Given the description of an element on the screen output the (x, y) to click on. 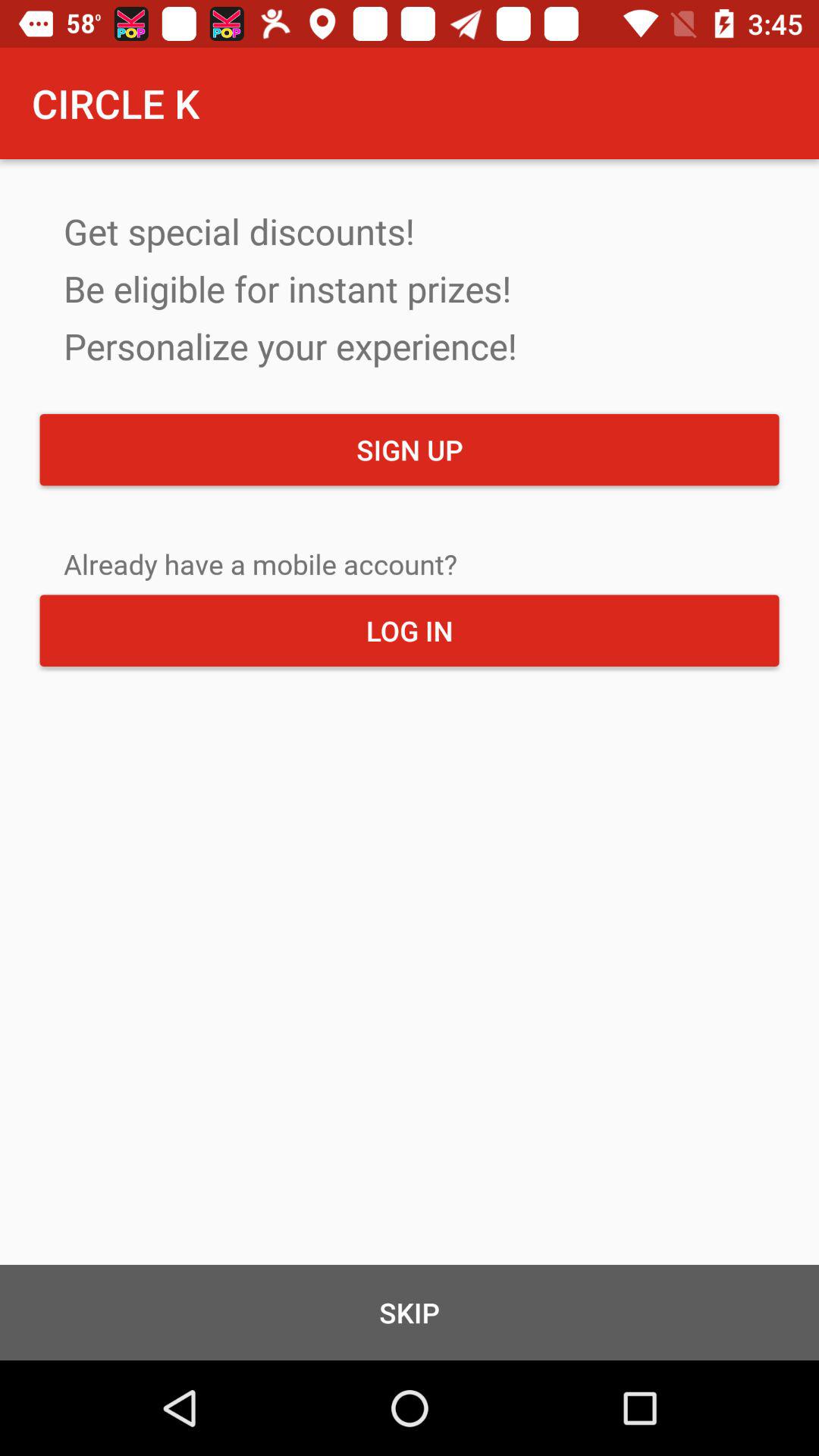
turn off the item below the get special discounts item (409, 449)
